Given the description of an element on the screen output the (x, y) to click on. 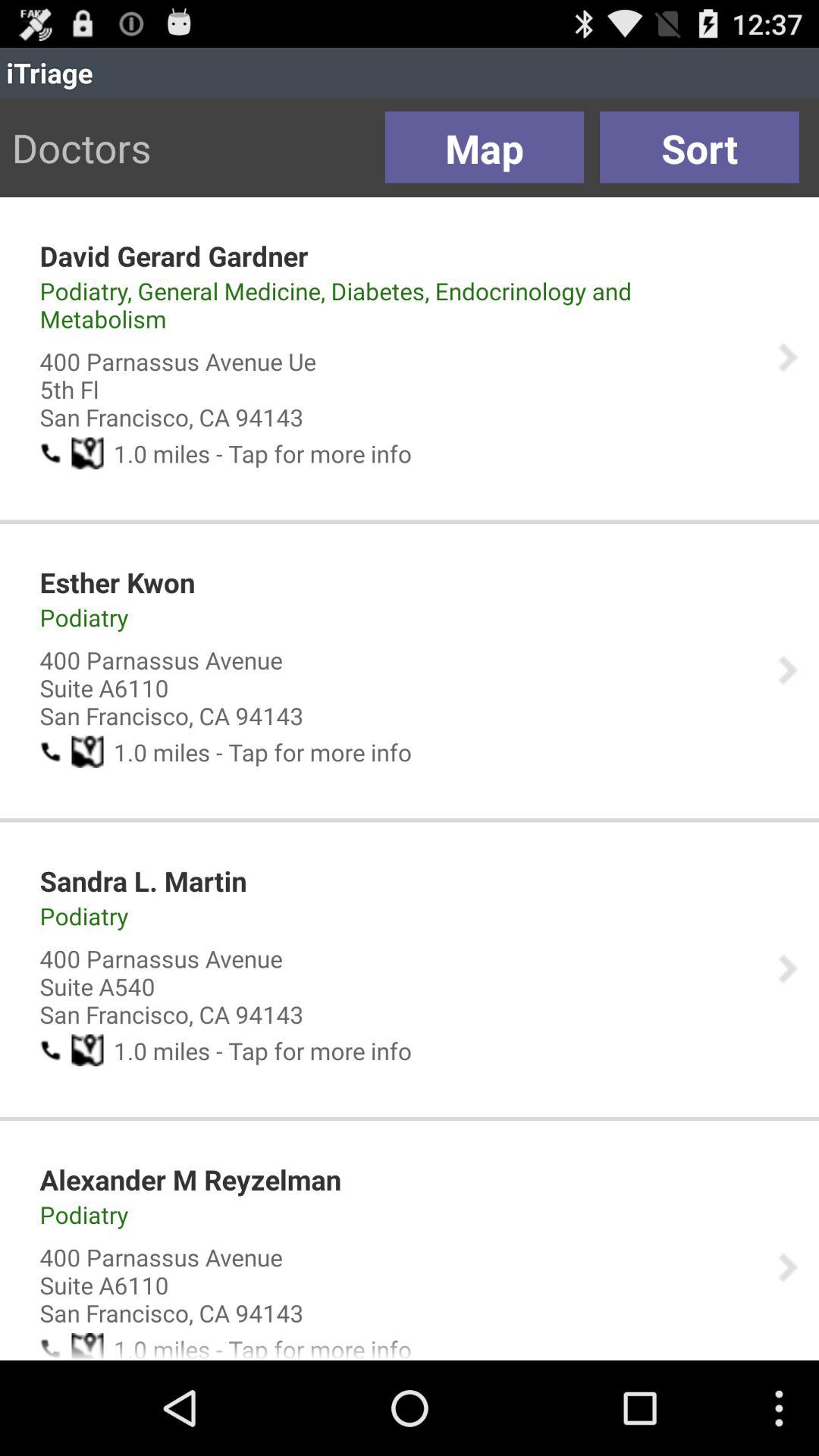
press the icon below the itriage icon (699, 147)
